Given the description of an element on the screen output the (x, y) to click on. 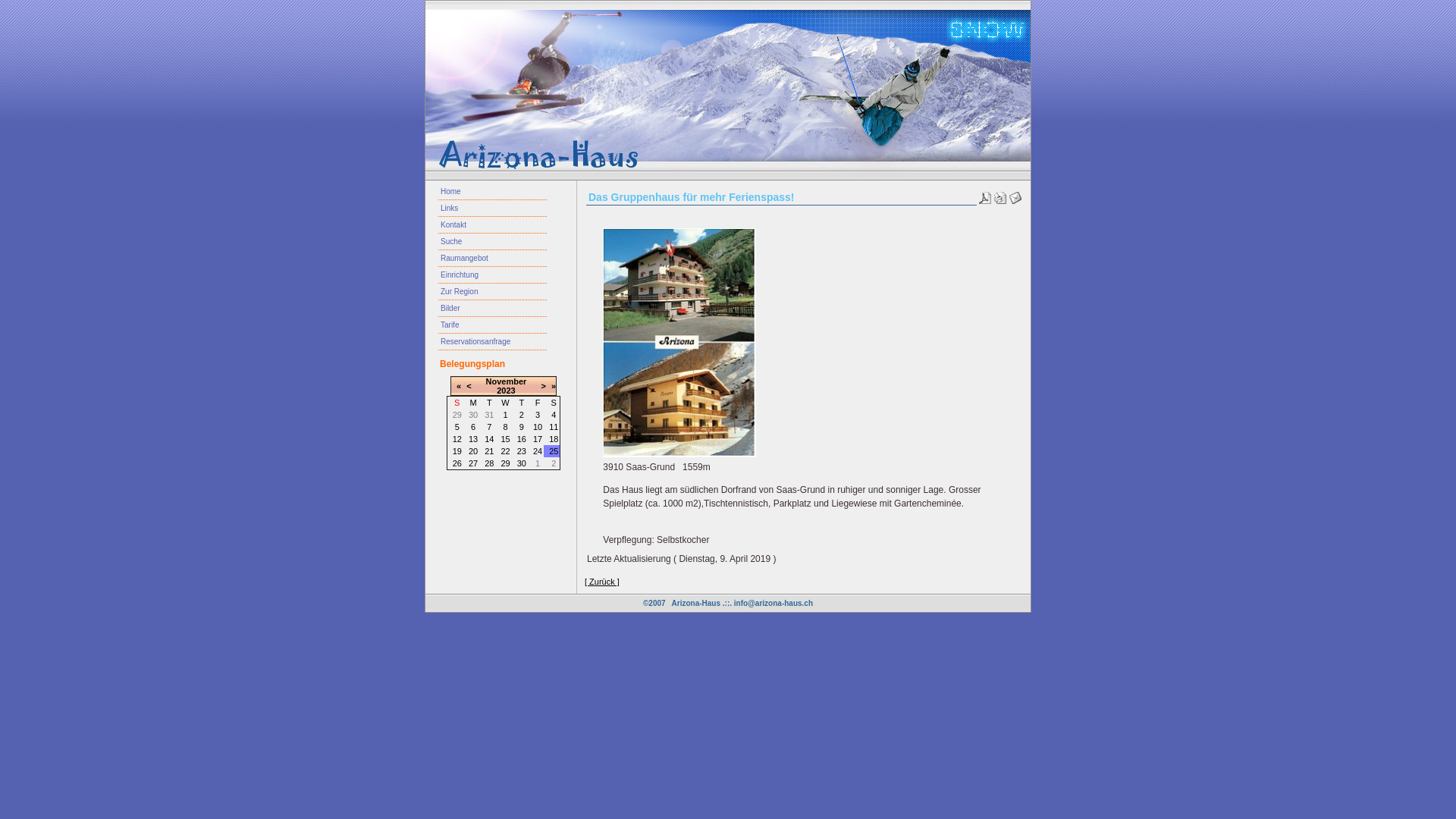
PDF Element type: hover (985, 194)
11 Element type: text (553, 426)
4 Element type: text (553, 414)
21 Element type: text (488, 450)
6 Element type: text (472, 426)
19 Element type: text (456, 450)
26 Element type: text (456, 462)
20 Element type: text (472, 450)
Reservationsanfrage Element type: text (492, 341)
5 Element type: text (457, 426)
7 Element type: text (488, 426)
16 Element type: text (521, 438)
15 Element type: text (504, 438)
info@arizona-haus.ch Element type: text (773, 603)
Kontakt Element type: text (492, 224)
29 Element type: text (504, 462)
24 Element type: text (537, 450)
Zur Region Element type: text (492, 291)
> Element type: text (542, 385)
Drucken Element type: hover (1000, 194)
Arizona-Haus Element type: text (695, 603)
14 Element type: text (488, 438)
2023 Element type: text (505, 390)
13 Element type: text (472, 438)
23 Element type: text (521, 450)
28 Element type: text (488, 462)
Einrichtung Element type: text (492, 274)
1 Element type: text (504, 414)
25 Element type: text (553, 450)
30 Element type: text (521, 462)
Home Element type: text (492, 191)
Tarife Element type: text (492, 324)
17 Element type: text (537, 438)
< Element type: text (468, 385)
2 Element type: text (521, 414)
Links Element type: text (492, 208)
27 Element type: text (472, 462)
November Element type: text (506, 380)
E-Mail Element type: hover (1015, 194)
22 Element type: text (504, 450)
Bilder Element type: text (492, 308)
10 Element type: text (537, 426)
12 Element type: text (456, 438)
Arizona Element type: hover (679, 342)
8 Element type: text (504, 426)
Raumangebot Element type: text (492, 258)
3 Element type: text (537, 414)
9 Element type: text (521, 426)
Suche Element type: text (492, 241)
18 Element type: text (553, 438)
